Given the description of an element on the screen output the (x, y) to click on. 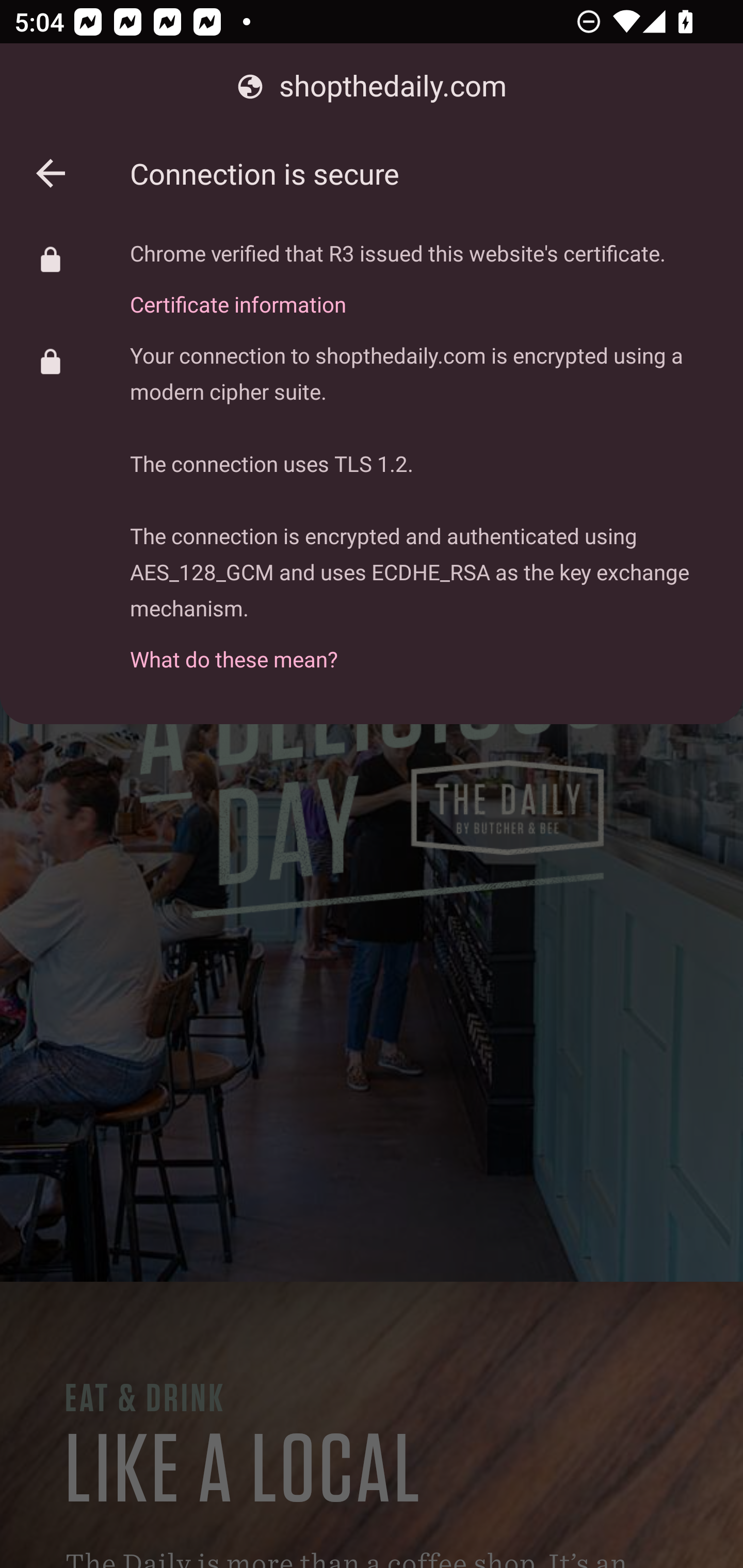
shopthedaily.com (371, 86)
Back (50, 173)
Certificate information (398, 293)
What do these mean? (422, 648)
